Given the description of an element on the screen output the (x, y) to click on. 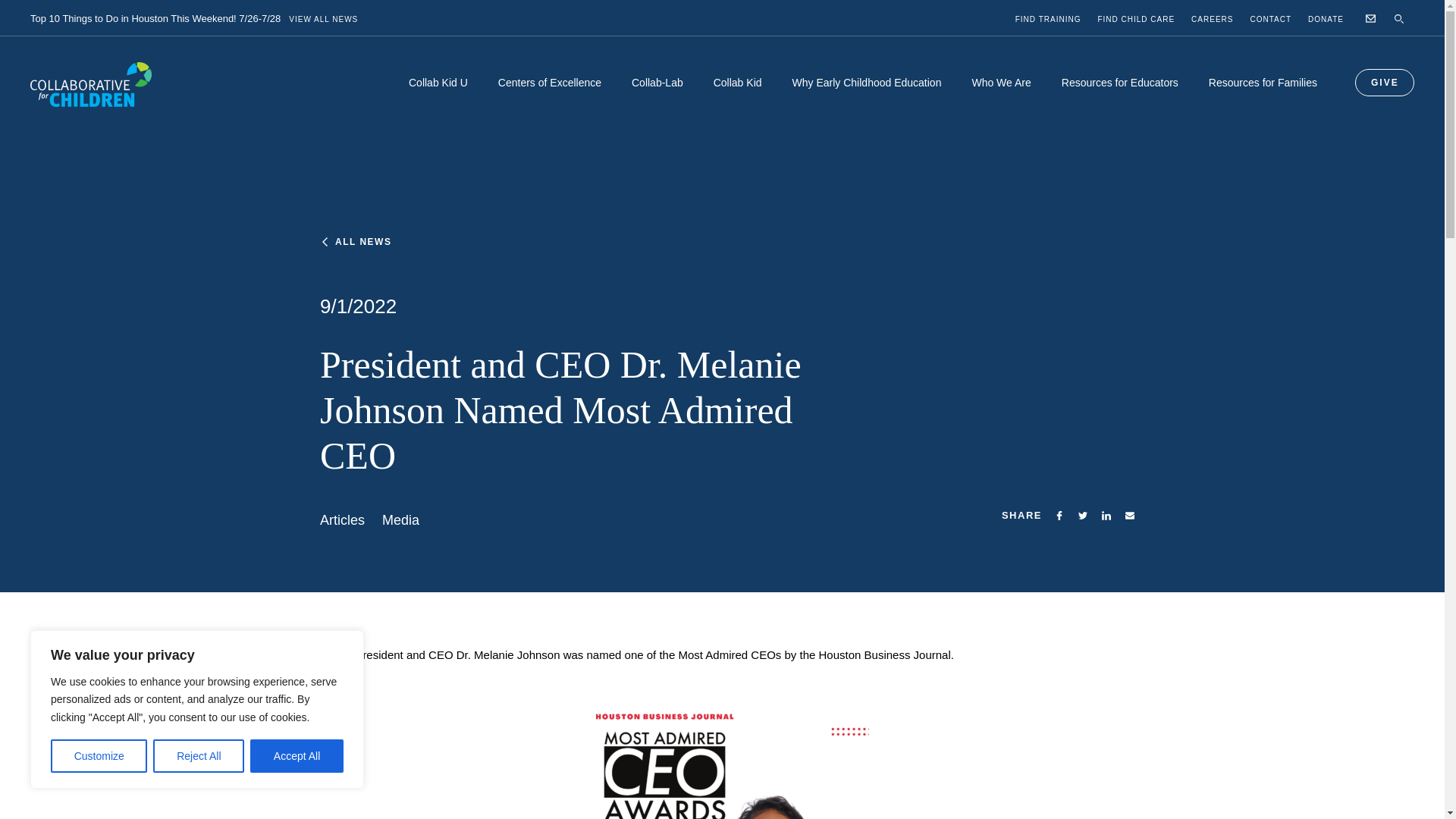
Asset 5 (1059, 515)
Customize (98, 756)
Asset 8 (1106, 515)
Centers of Excellence (549, 96)
Collab-Lab (656, 96)
CONTACT (1270, 19)
DONATE (1326, 19)
Who We Are (1000, 96)
CAREERS (1211, 19)
Reject All (198, 756)
Collab Kid (737, 96)
Why Early Childhood Education (866, 96)
Accept All (296, 756)
VIEW ALL NEWS (323, 19)
FIND TRAINING (1048, 19)
